Given the description of an element on the screen output the (x, y) to click on. 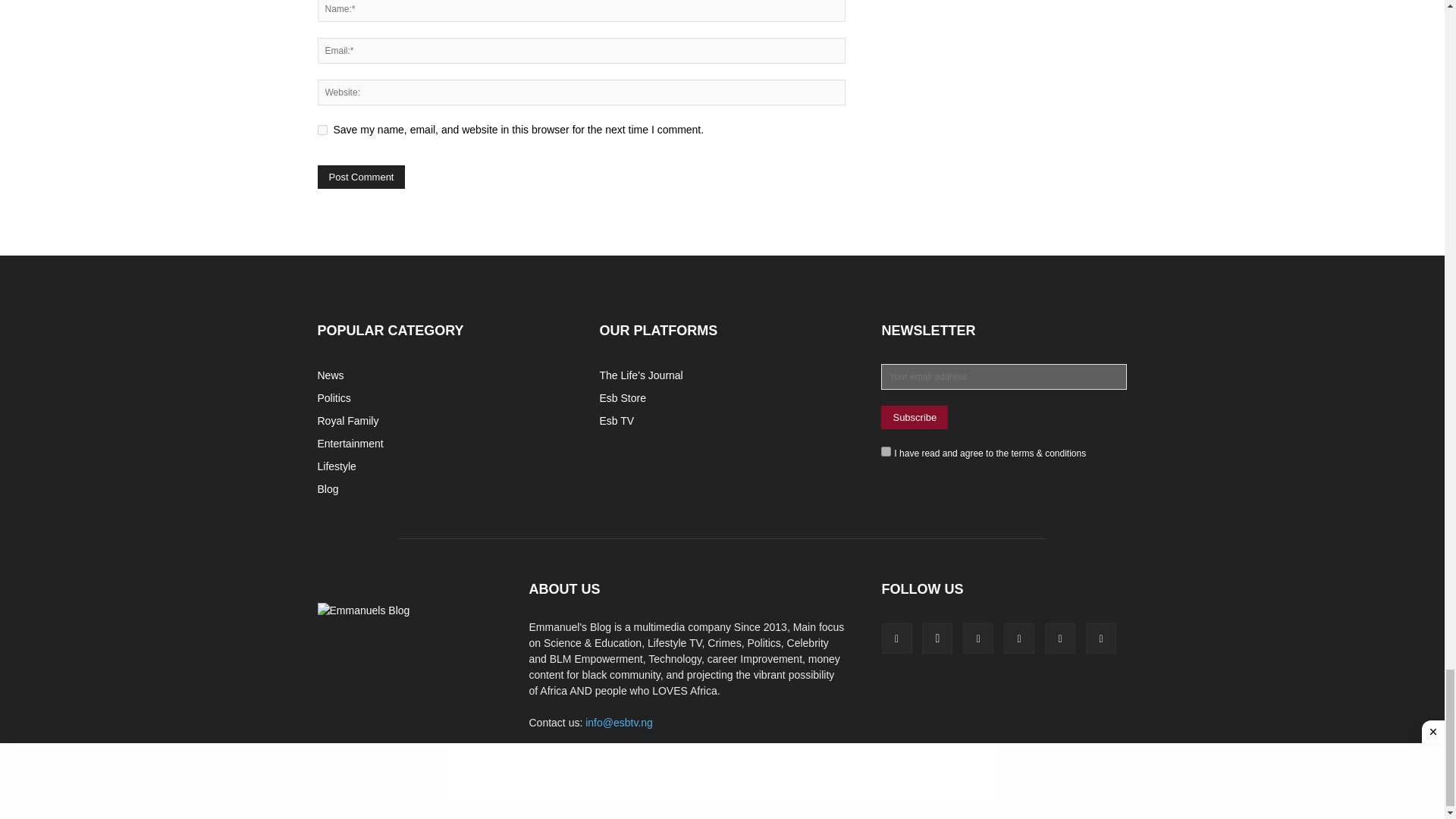
yes (321, 130)
1 (885, 451)
Post Comment (360, 177)
Subscribe (913, 417)
